Given the description of an element on the screen output the (x, y) to click on. 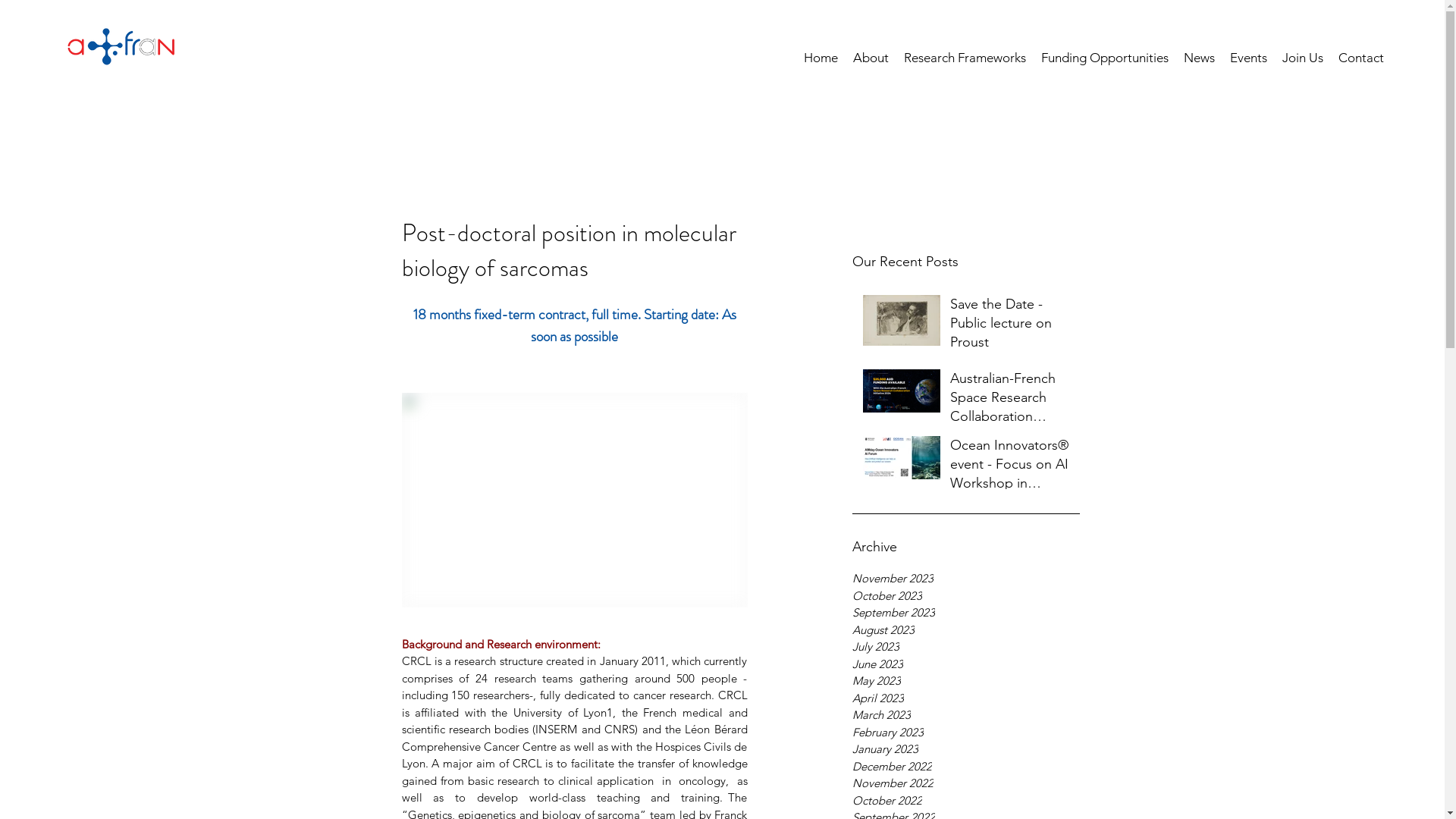
June 2023 Element type: text (965, 663)
July 2023 Element type: text (965, 646)
Home Element type: text (820, 57)
October 2022 Element type: text (965, 800)
About Element type: text (870, 57)
May 2023 Element type: text (965, 681)
Save the Date - Public lecture on Proust Element type: text (1009, 325)
Research Frameworks Element type: text (964, 57)
February 2023 Element type: text (965, 731)
October 2023 Element type: text (965, 595)
Join Us Element type: text (1302, 57)
August 2023 Element type: text (965, 630)
November 2022 Element type: text (965, 783)
September 2023 Element type: text (965, 612)
Events Element type: text (1248, 57)
News Element type: text (1199, 57)
Funding Opportunities Element type: text (1104, 57)
November 2023 Element type: text (965, 578)
January 2023 Element type: text (965, 749)
April 2023 Element type: text (965, 698)
March 2023 Element type: text (965, 715)
Contact Element type: text (1360, 57)
December 2022 Element type: text (965, 766)
